Given the description of an element on the screen output the (x, y) to click on. 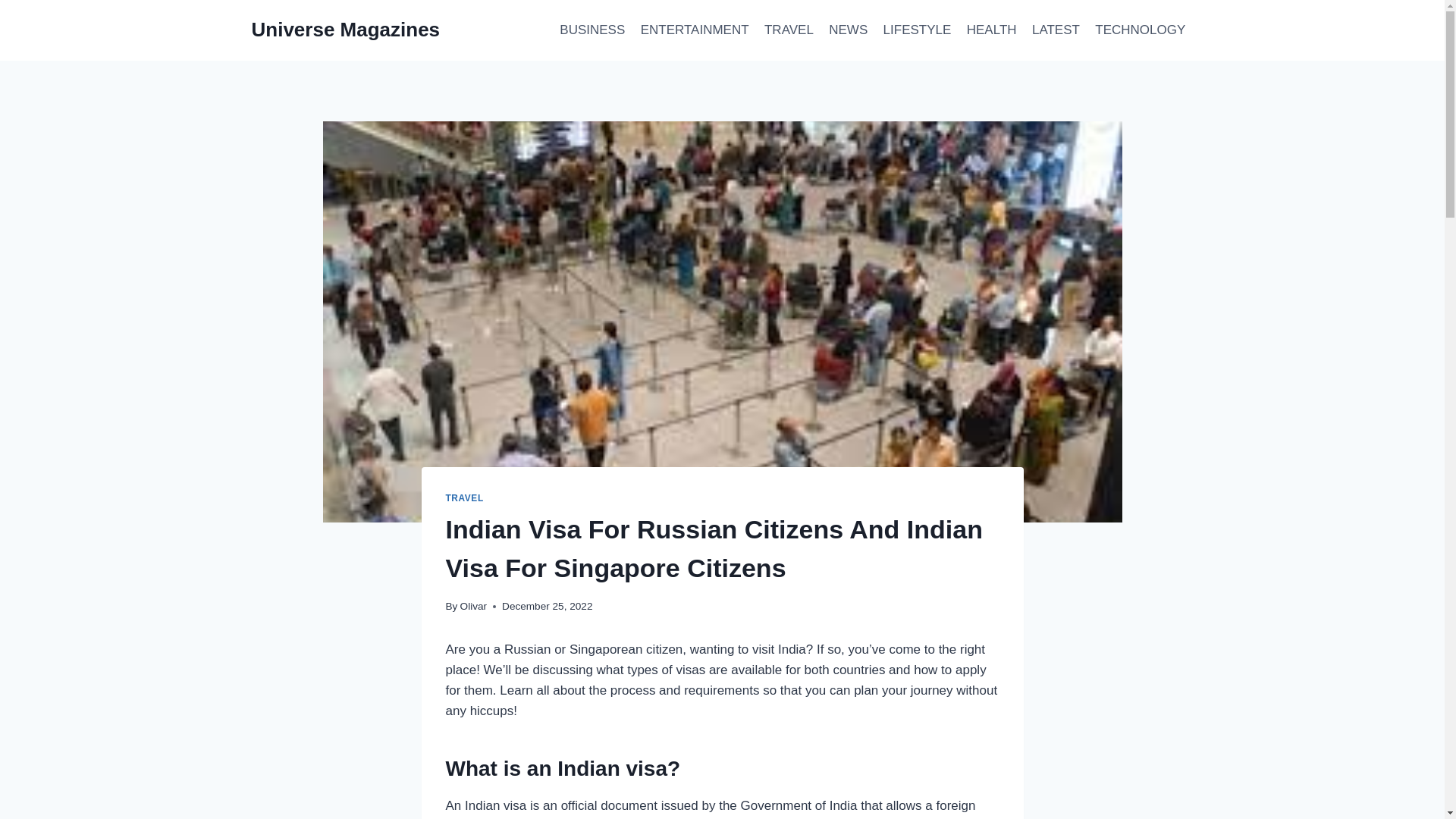
TRAVEL (789, 30)
ENTERTAINMENT (693, 30)
BUSINESS (591, 30)
TRAVEL (464, 498)
Universe Magazines (346, 29)
LIFESTYLE (916, 30)
TECHNOLOGY (1139, 30)
HEALTH (992, 30)
NEWS (848, 30)
LATEST (1056, 30)
